Given the description of an element on the screen output the (x, y) to click on. 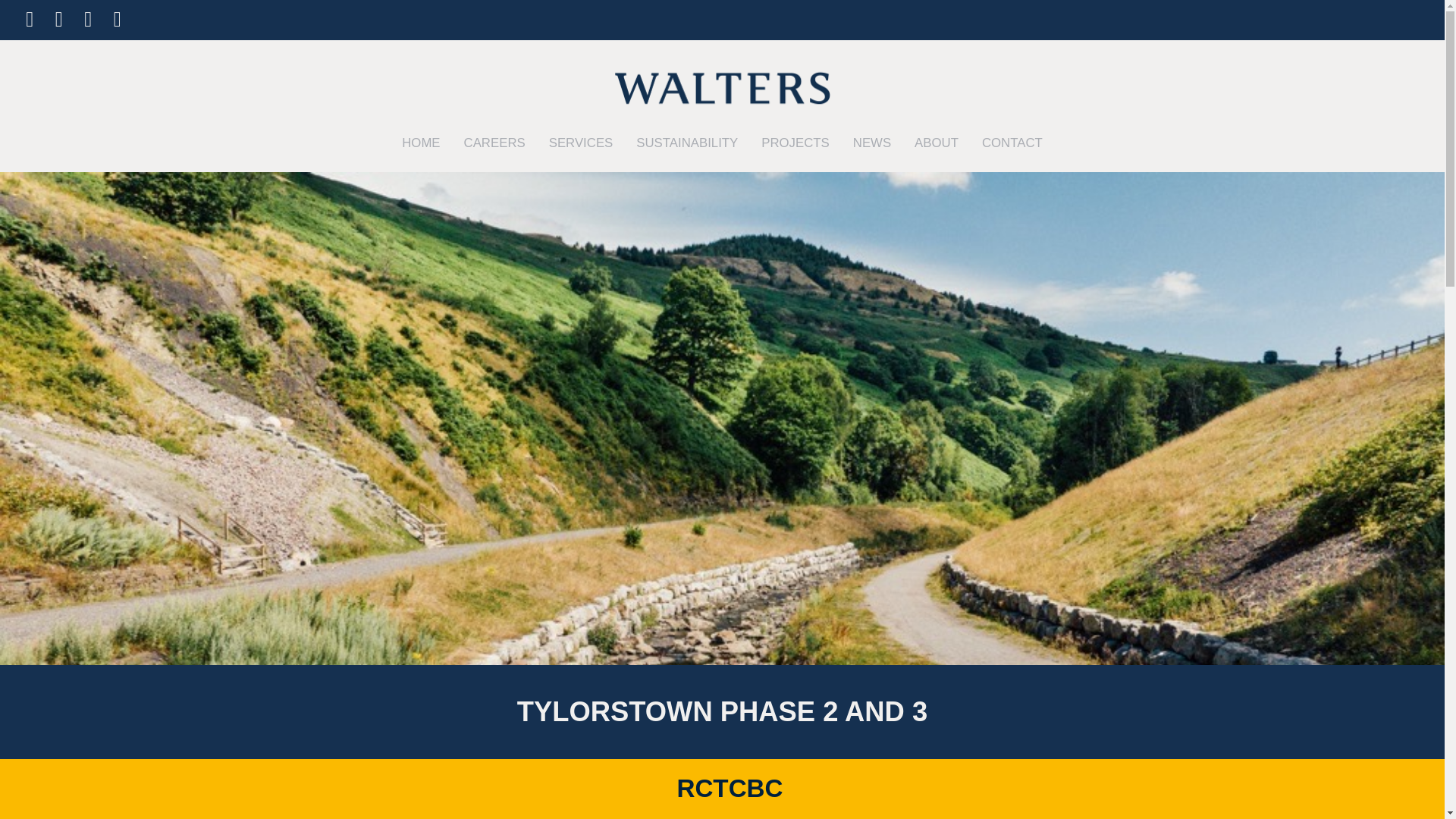
CONTACT (1011, 143)
PROJECTS (795, 143)
CAREERS (494, 143)
ABOUT (936, 143)
NEWS (871, 143)
SERVICES (580, 143)
HOME (420, 143)
SUSTAINABILITY (686, 143)
